Given the description of an element on the screen output the (x, y) to click on. 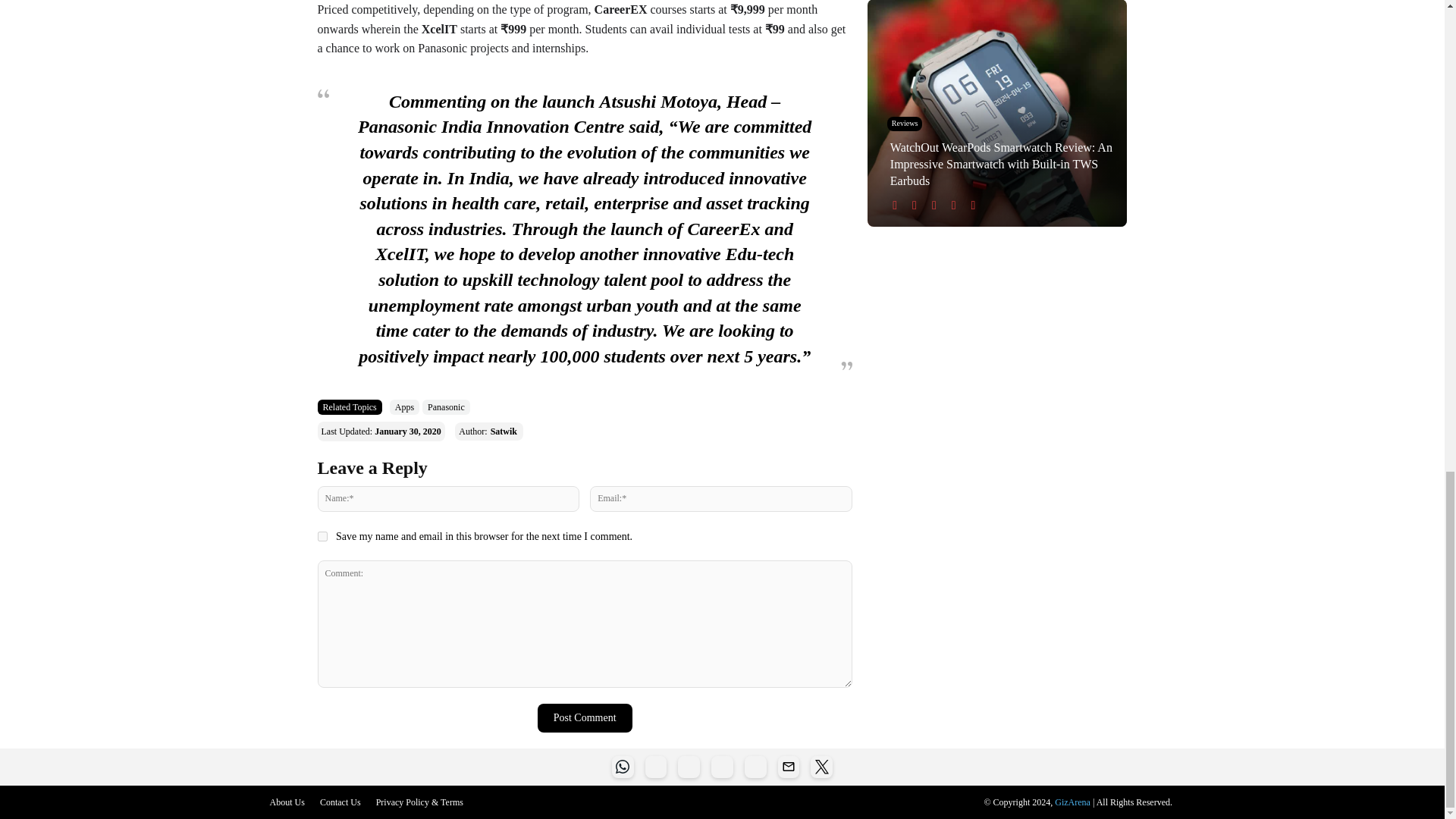
yes (321, 536)
Post Comment (584, 717)
